Given the description of an element on the screen output the (x, y) to click on. 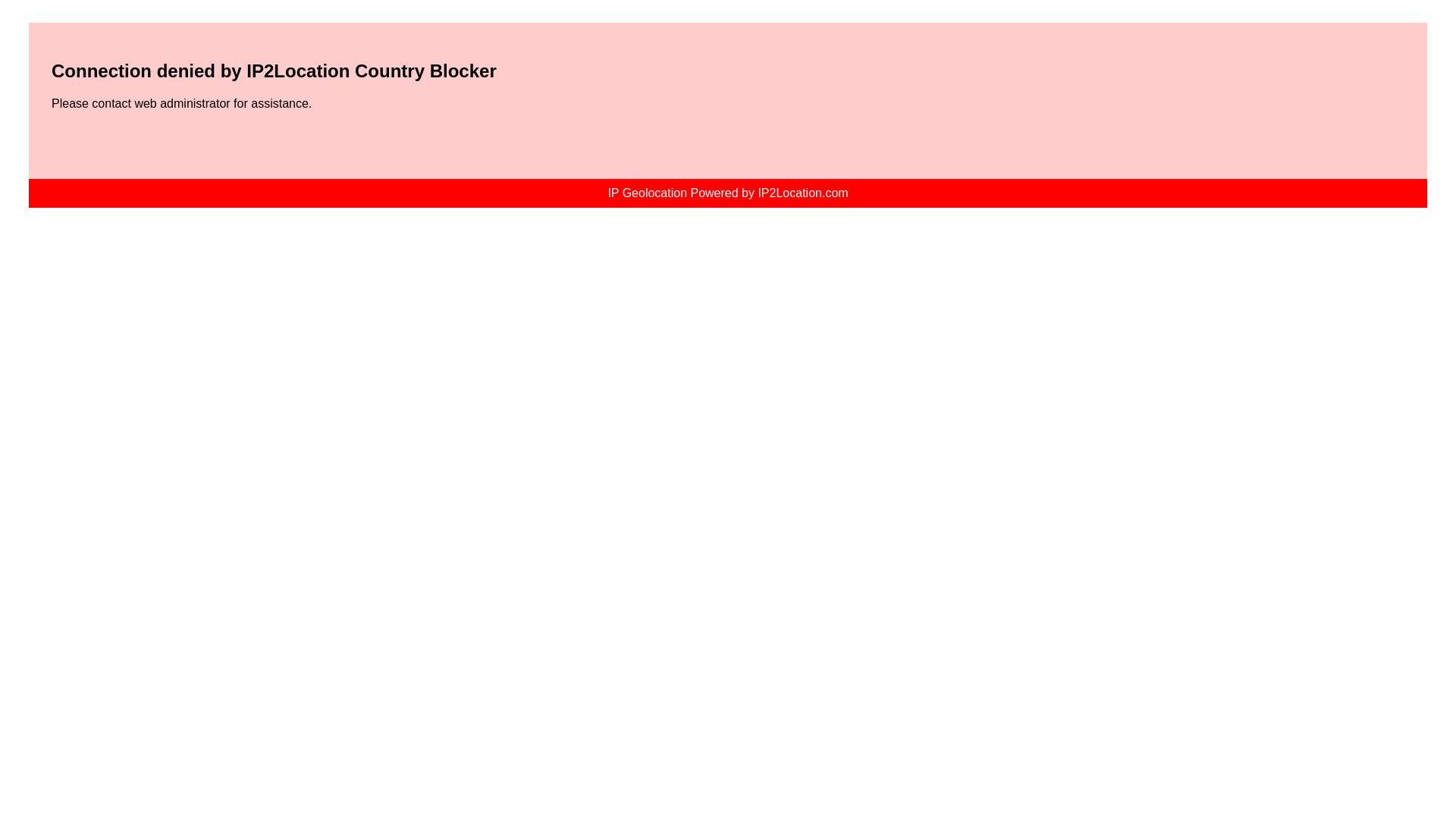
IP Geolocation Powered by IP2Location.com (727, 192)
